Given the description of an element on the screen output the (x, y) to click on. 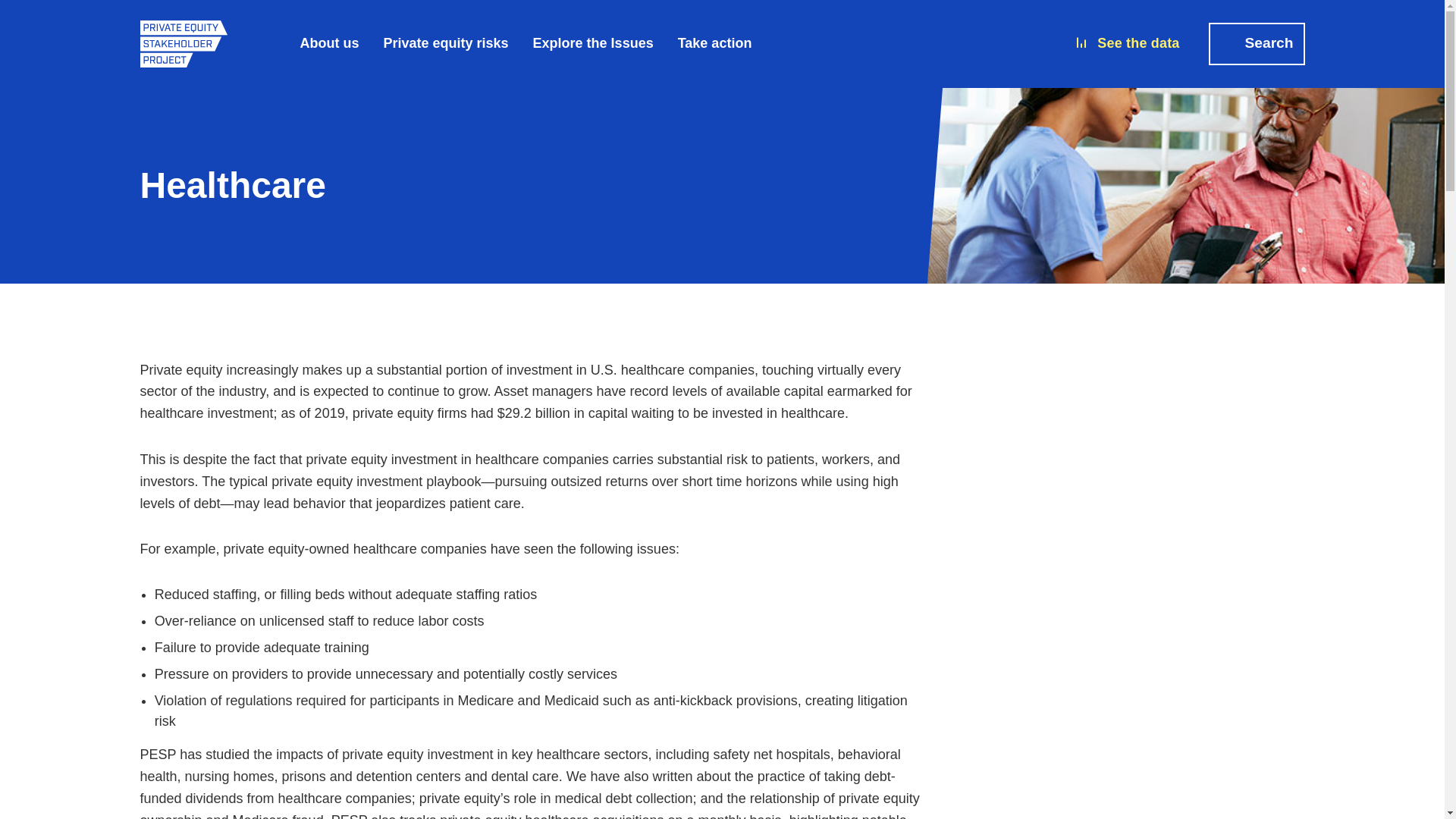
See the data (1127, 43)
Private Equity Stakeholder Project PESP (183, 43)
Explore the Issues (592, 43)
Private equity risks (446, 43)
About us (329, 43)
Take action (715, 43)
